Given the description of an element on the screen output the (x, y) to click on. 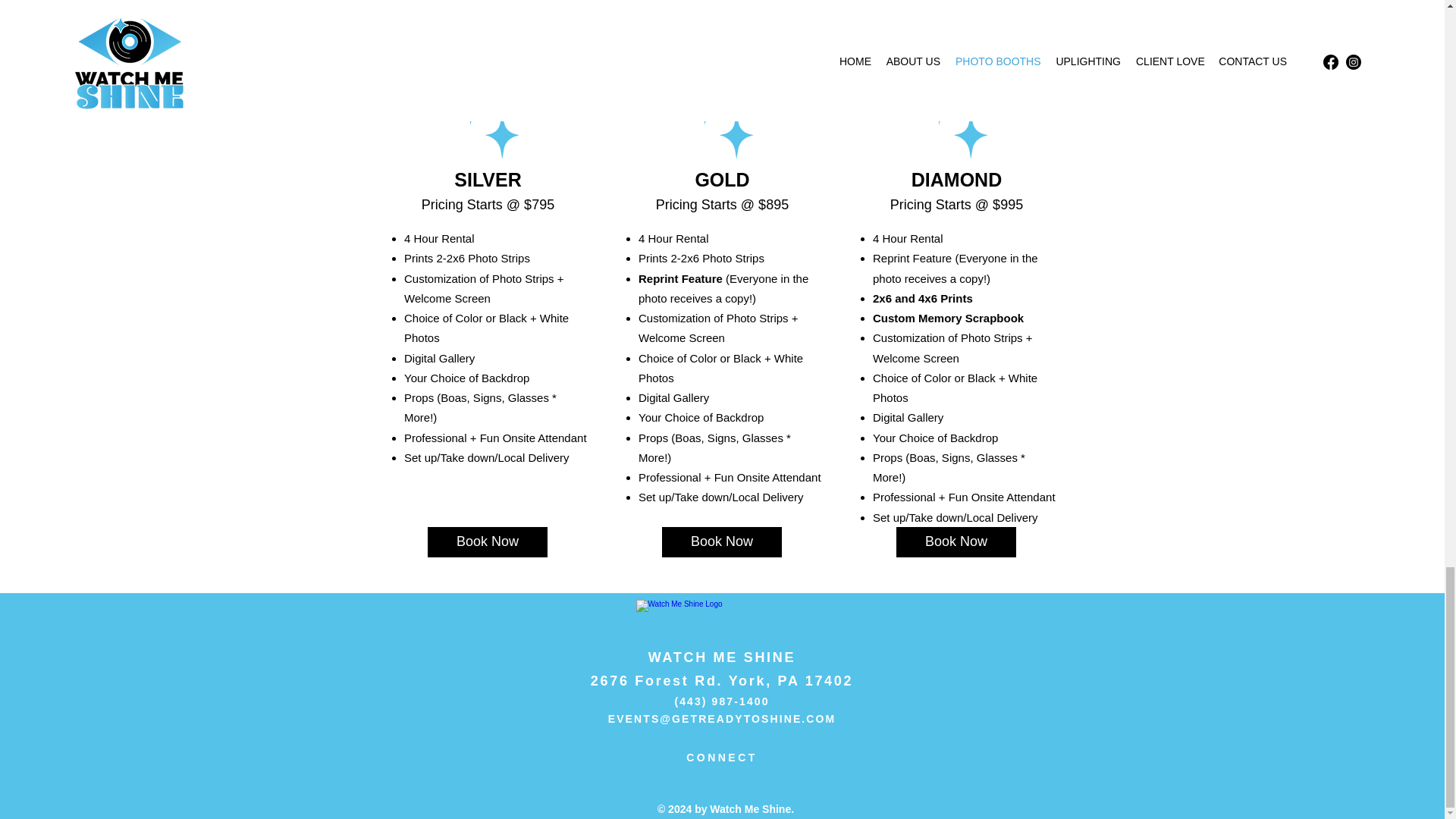
Book Now (487, 542)
contact us (655, 73)
Book Now (721, 542)
Book Now (956, 542)
